Given the description of an element on the screen output the (x, y) to click on. 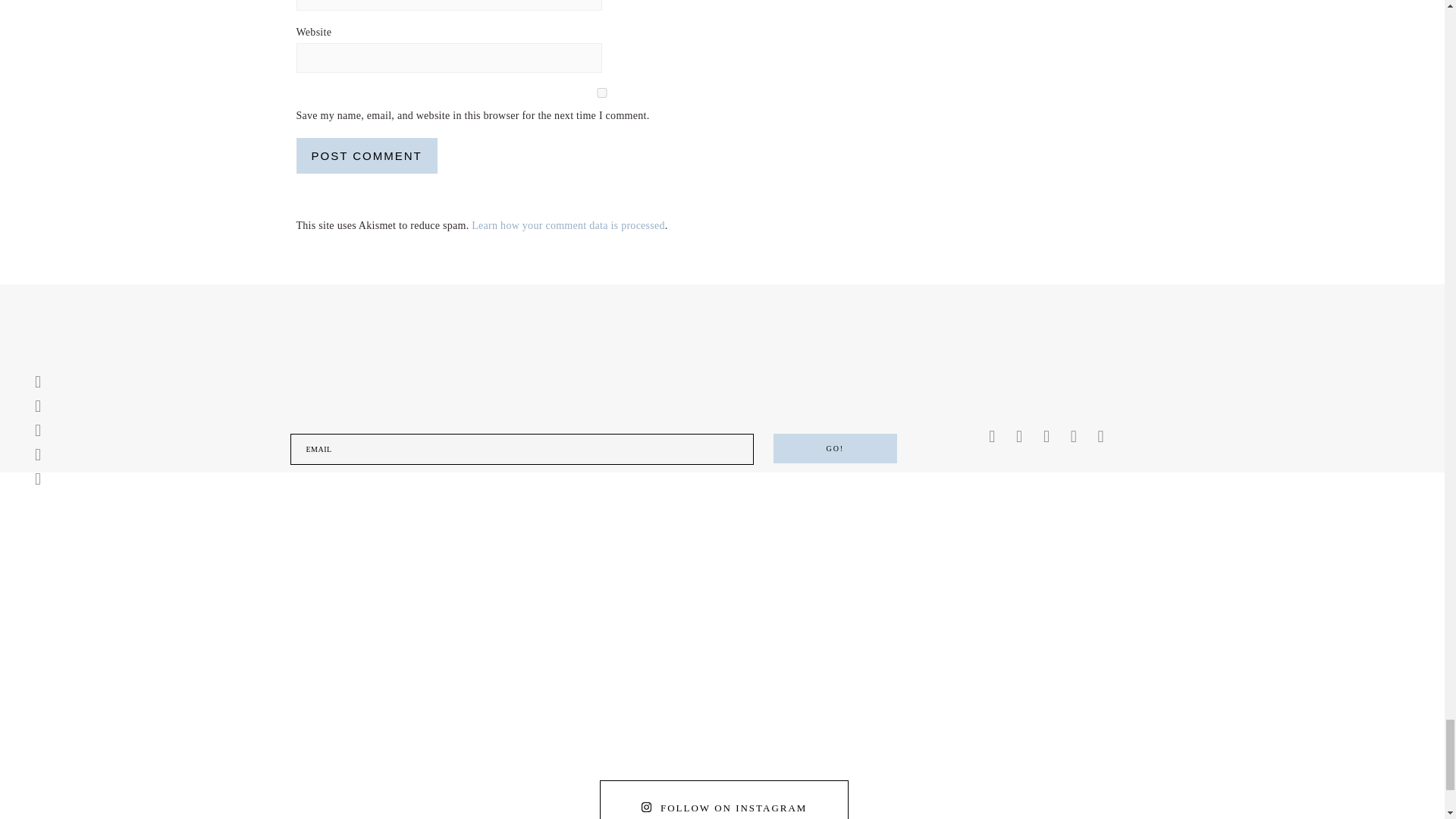
Post Comment (365, 155)
Go! (834, 448)
yes (601, 92)
